Given the description of an element on the screen output the (x, y) to click on. 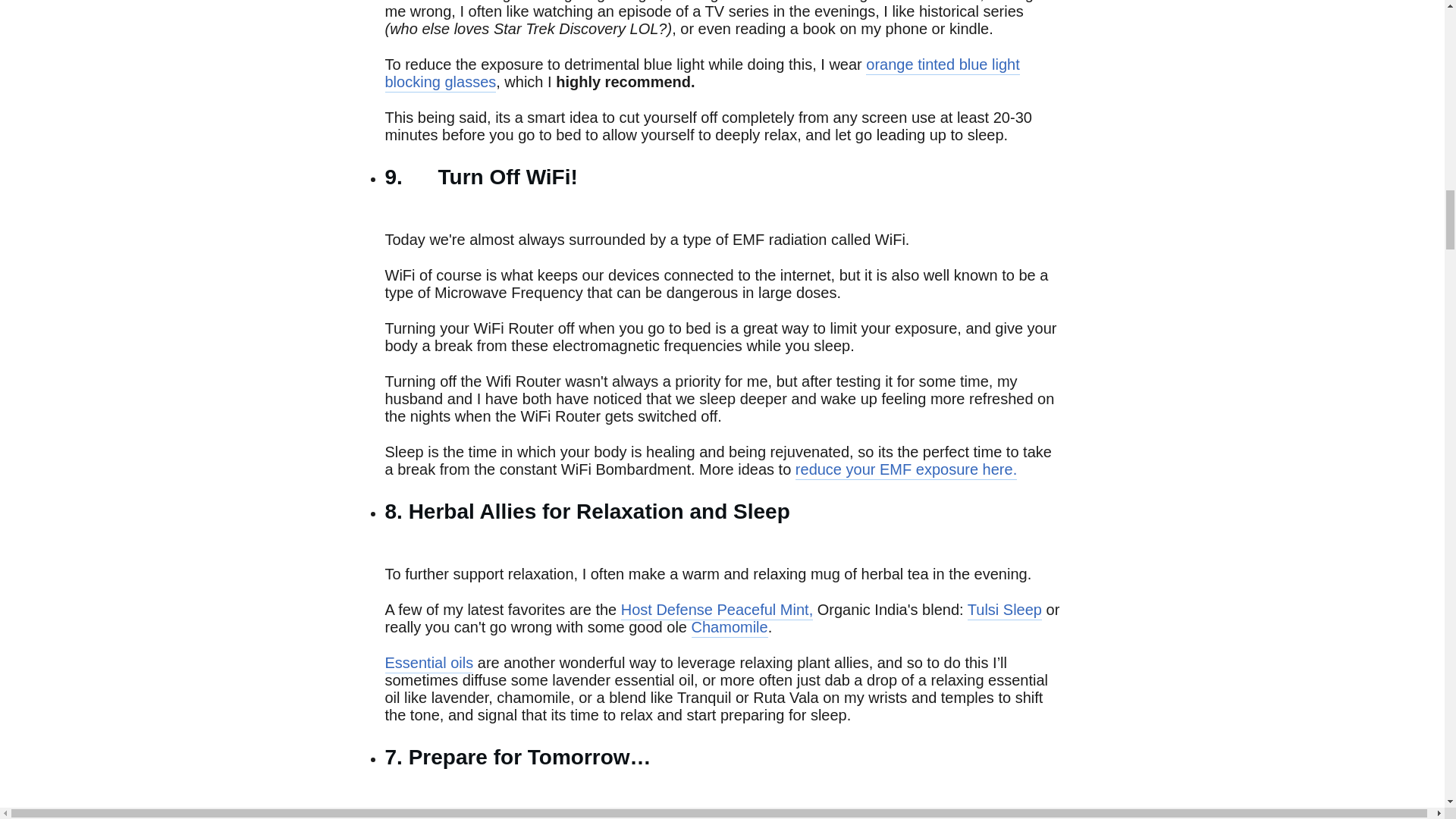
Tulsi Sleep (1005, 610)
orange tinted blue light blocking glasses (702, 74)
Chamomile (729, 628)
reduce your EMF exposure here. (905, 470)
Host Defense Peaceful Mint, (716, 610)
Essential oils (429, 663)
